Given the description of an element on the screen output the (x, y) to click on. 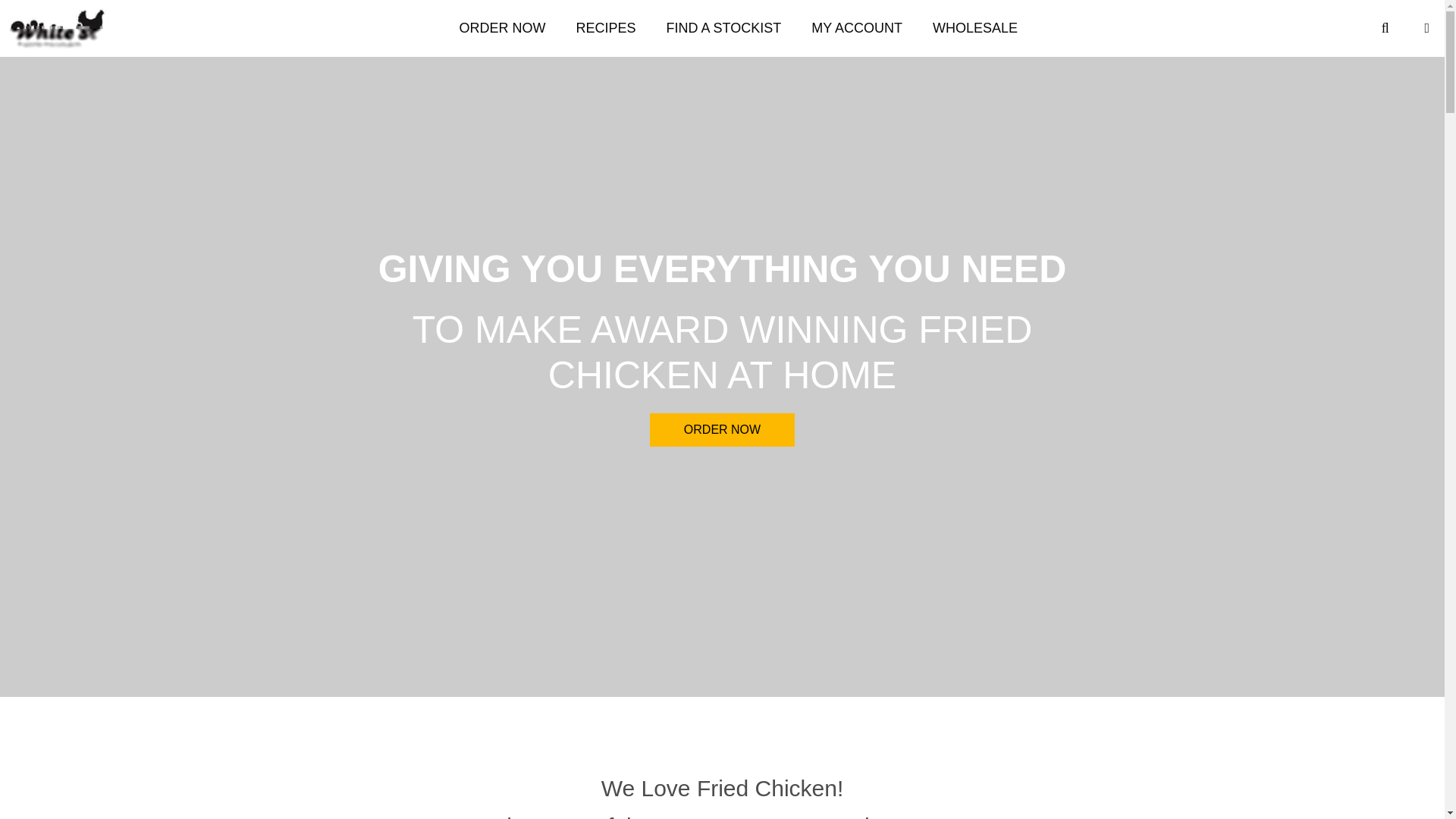
ORDER NOW (721, 429)
MY ACCOUNT (856, 28)
White's Gourmet Fried Chicken (61, 28)
ORDER NOW (502, 28)
WHOLESALE (974, 28)
RECIPES (605, 28)
FIND A STOCKIST (723, 28)
White's Gourmet Fried Chicken (57, 28)
